Given the description of an element on the screen output the (x, y) to click on. 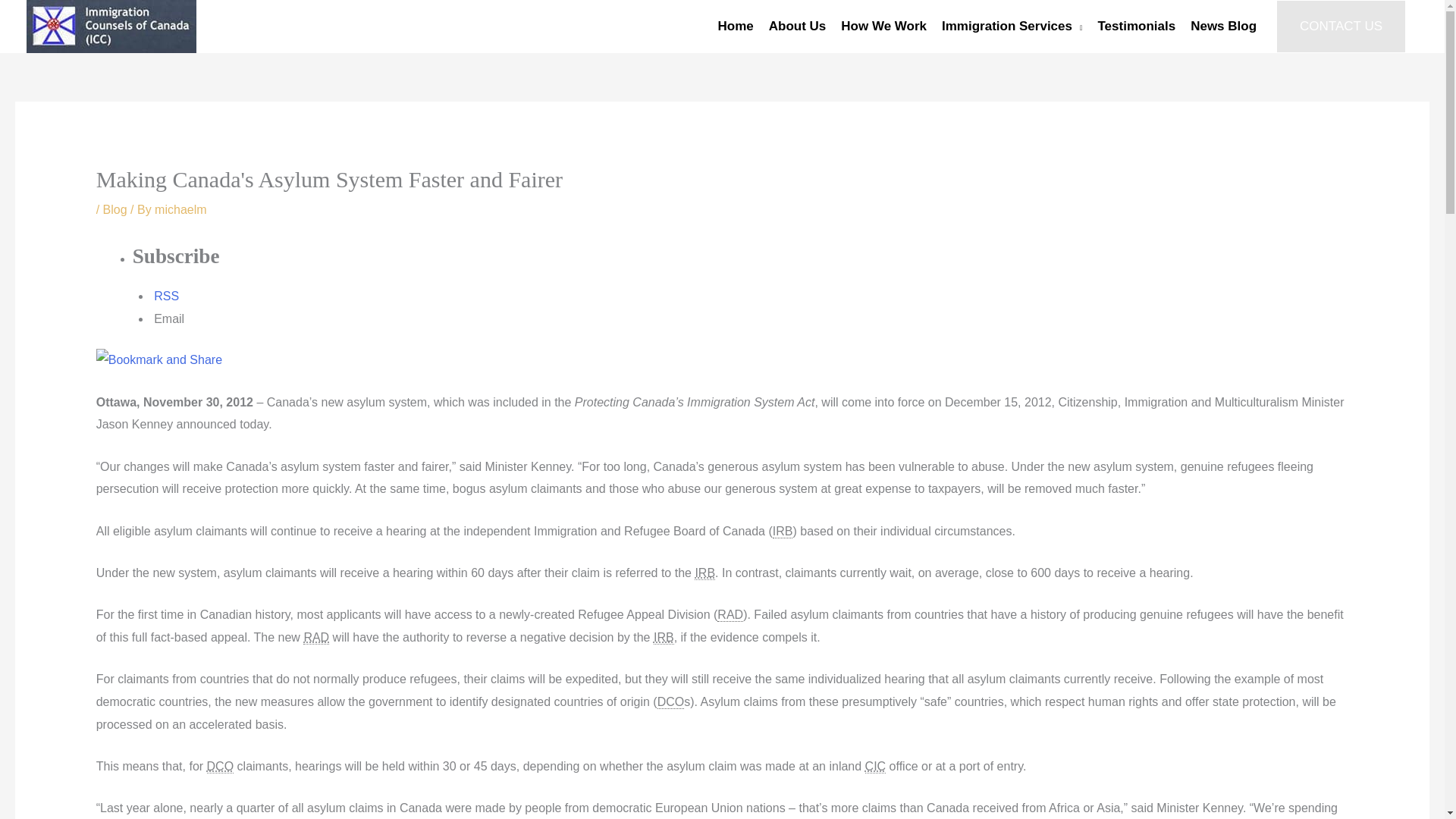
Immigration and Refugee Board of Canada (704, 572)
View all posts by michaelm (180, 209)
designated countries of origin (220, 766)
Immigration and Refugee Board of Canada (663, 637)
Home (735, 26)
Immigration Services (1011, 26)
About Us (797, 26)
How We Work (883, 26)
Refugee Appeal Division (315, 637)
Citizenship and Immigration Canada (875, 766)
